Given the description of an element on the screen output the (x, y) to click on. 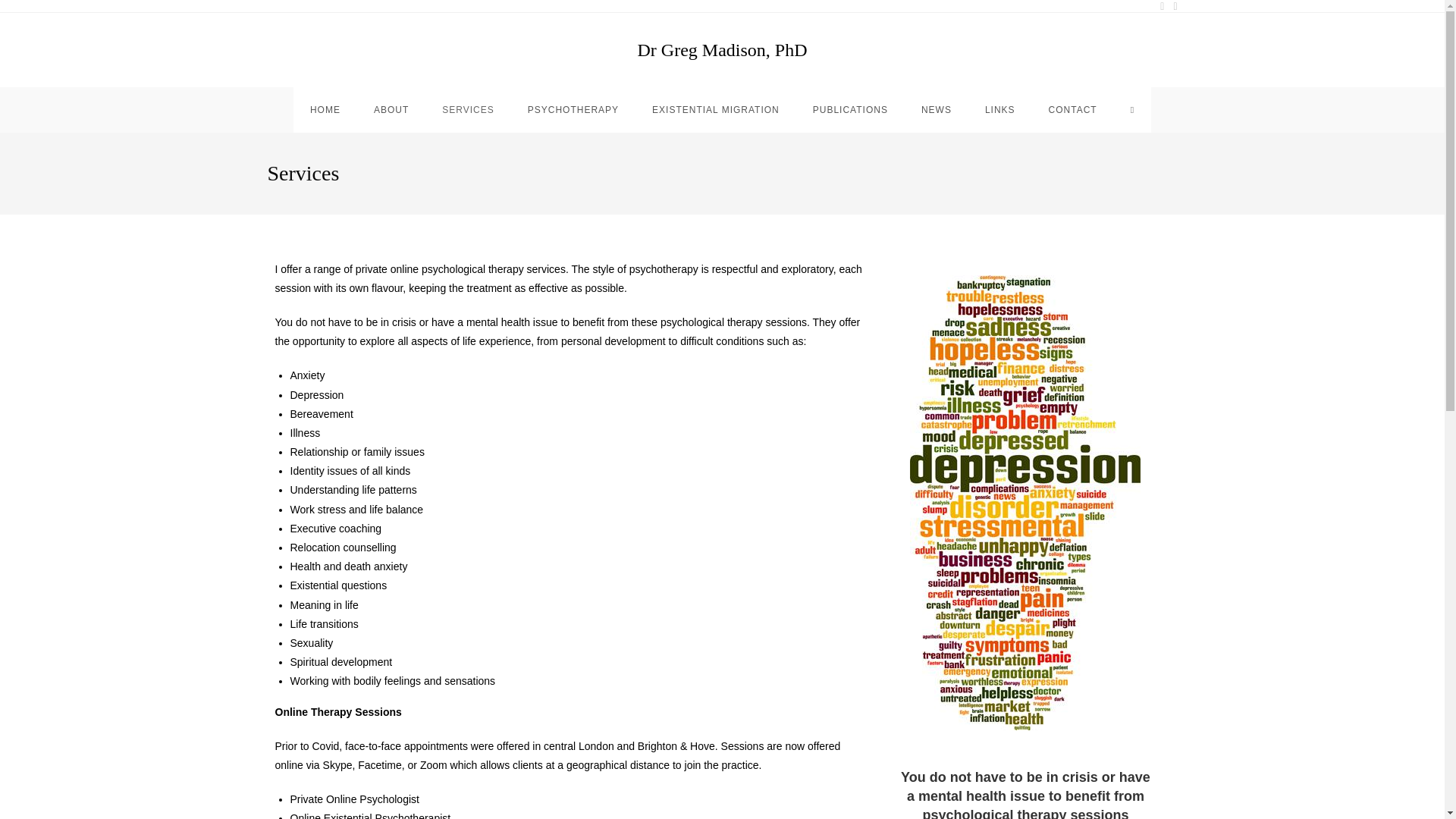
Dr Greg Madison, PhD (721, 49)
PSYCHOTHERAPY (572, 109)
HOME (325, 109)
EXISTENTIAL MIGRATION (715, 109)
PUBLICATIONS (850, 109)
SERVICES (468, 109)
LINKS (1000, 109)
ABOUT (390, 109)
NEWS (936, 109)
CONTACT (1072, 109)
